Given the description of an element on the screen output the (x, y) to click on. 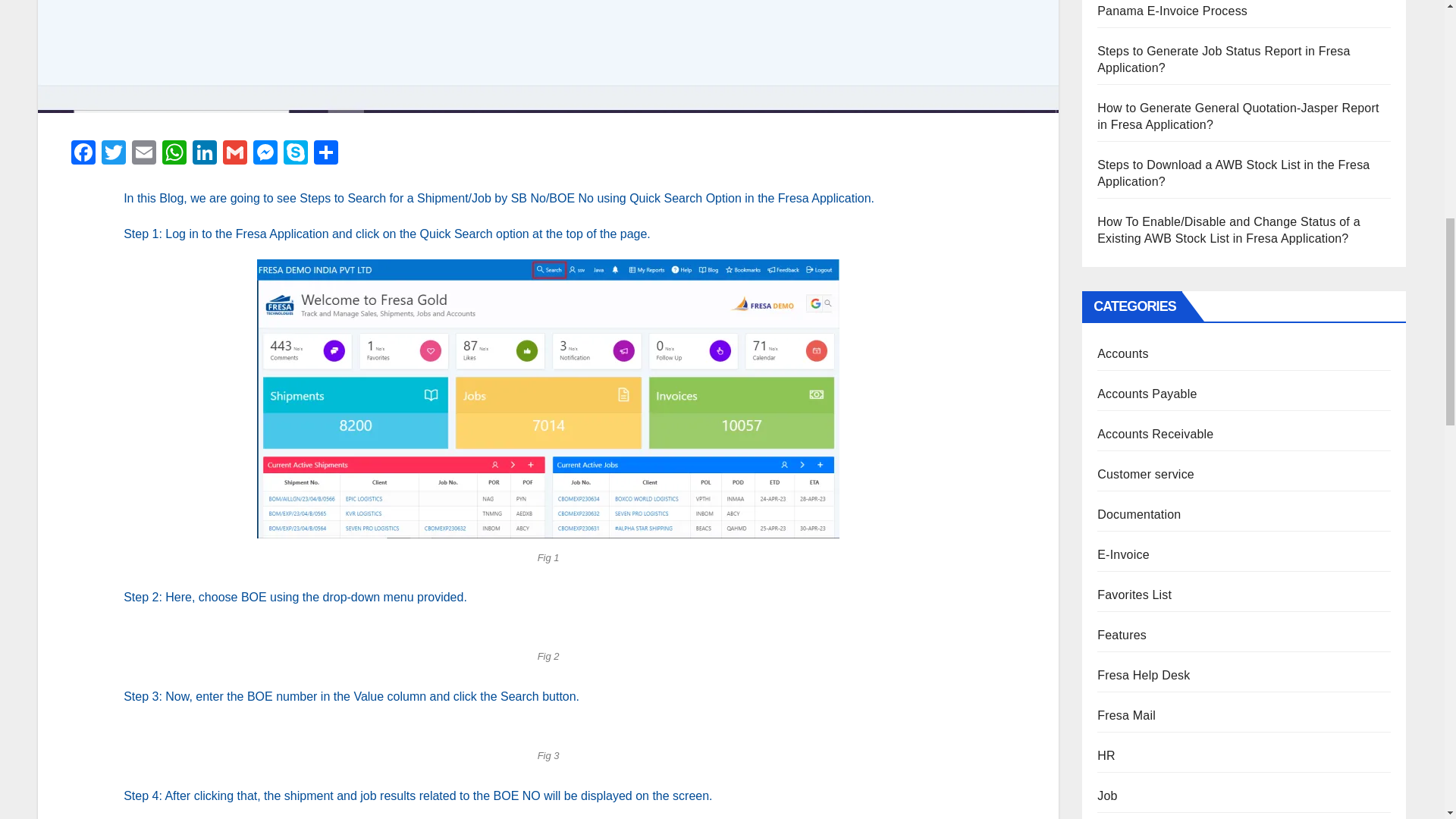
Messenger (265, 154)
Gmail (234, 154)
Facebook (83, 154)
Email (143, 154)
Gmail (234, 154)
LinkedIn (204, 154)
Facebook (83, 154)
Twitter (114, 154)
WhatsApp (173, 154)
WhatsApp (173, 154)
